Given the description of an element on the screen output the (x, y) to click on. 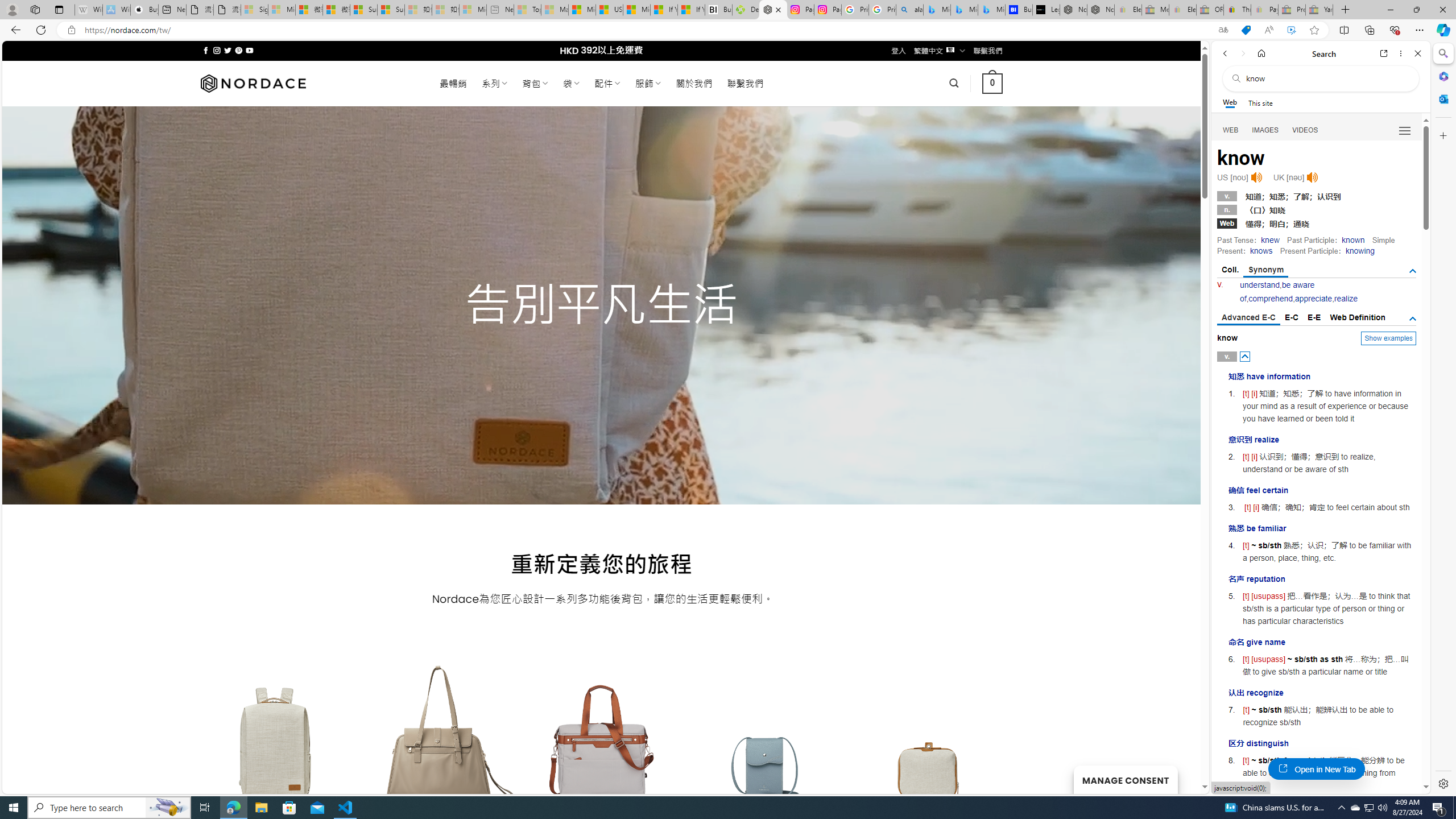
Microsoft Bing Travel - Shangri-La Hotel Bangkok (991, 9)
Follow on Instagram (216, 50)
knows (1260, 250)
known (1352, 239)
AutomationID: posbtn_0 (1245, 356)
